Given the description of an element on the screen output the (x, y) to click on. 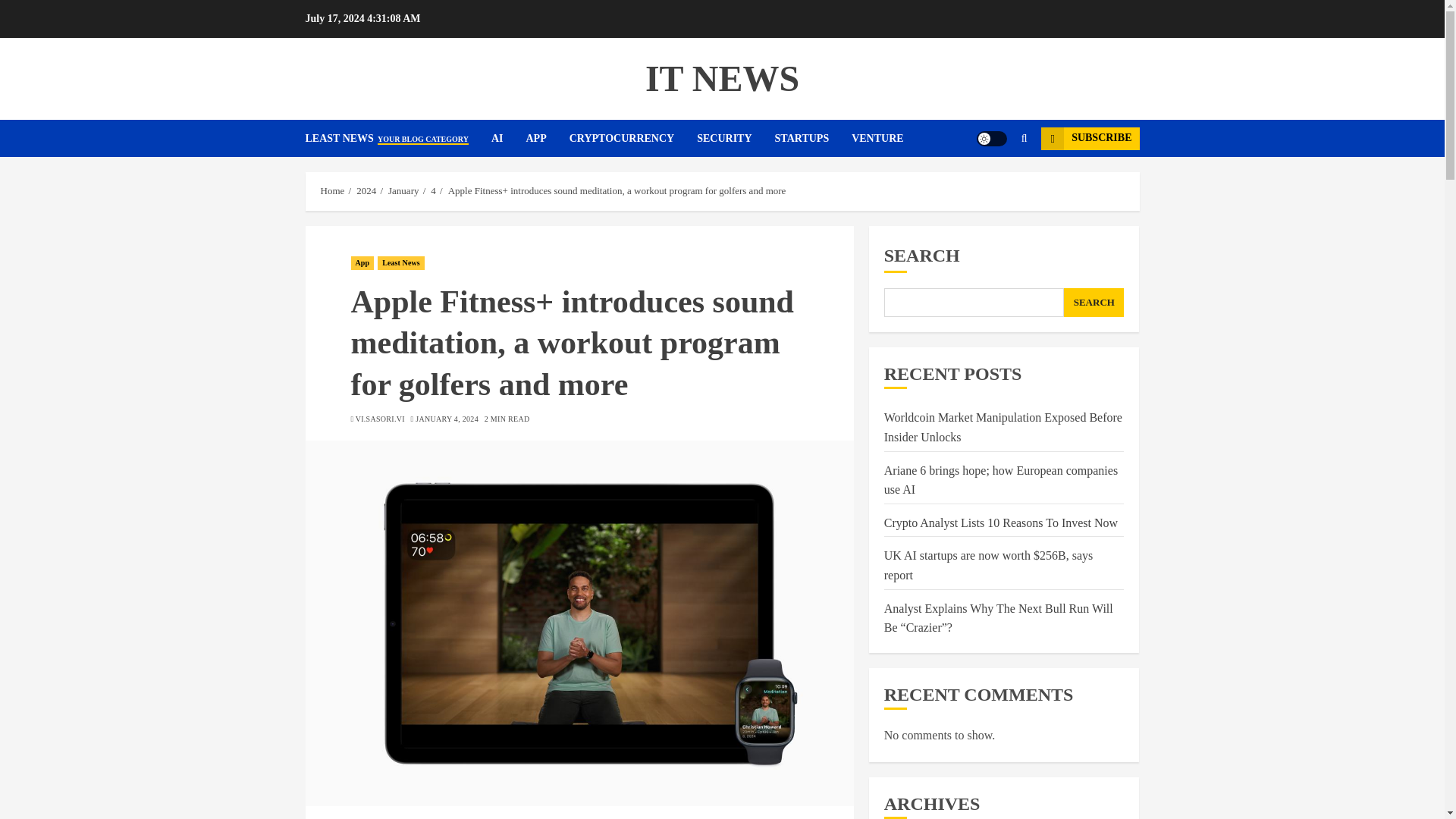
APP (547, 138)
2024 (365, 191)
JANUARY 4, 2024 (446, 419)
STARTUPS (812, 138)
4 (432, 191)
VENTURE (876, 138)
App (362, 263)
Home (331, 191)
Search (994, 184)
SECURITY (735, 138)
SUBSCRIBE (1089, 138)
AI (508, 138)
Least News (401, 263)
January (403, 191)
LEAST NEWSYOUR BLOG CATEGORY (397, 138)
